Given the description of an element on the screen output the (x, y) to click on. 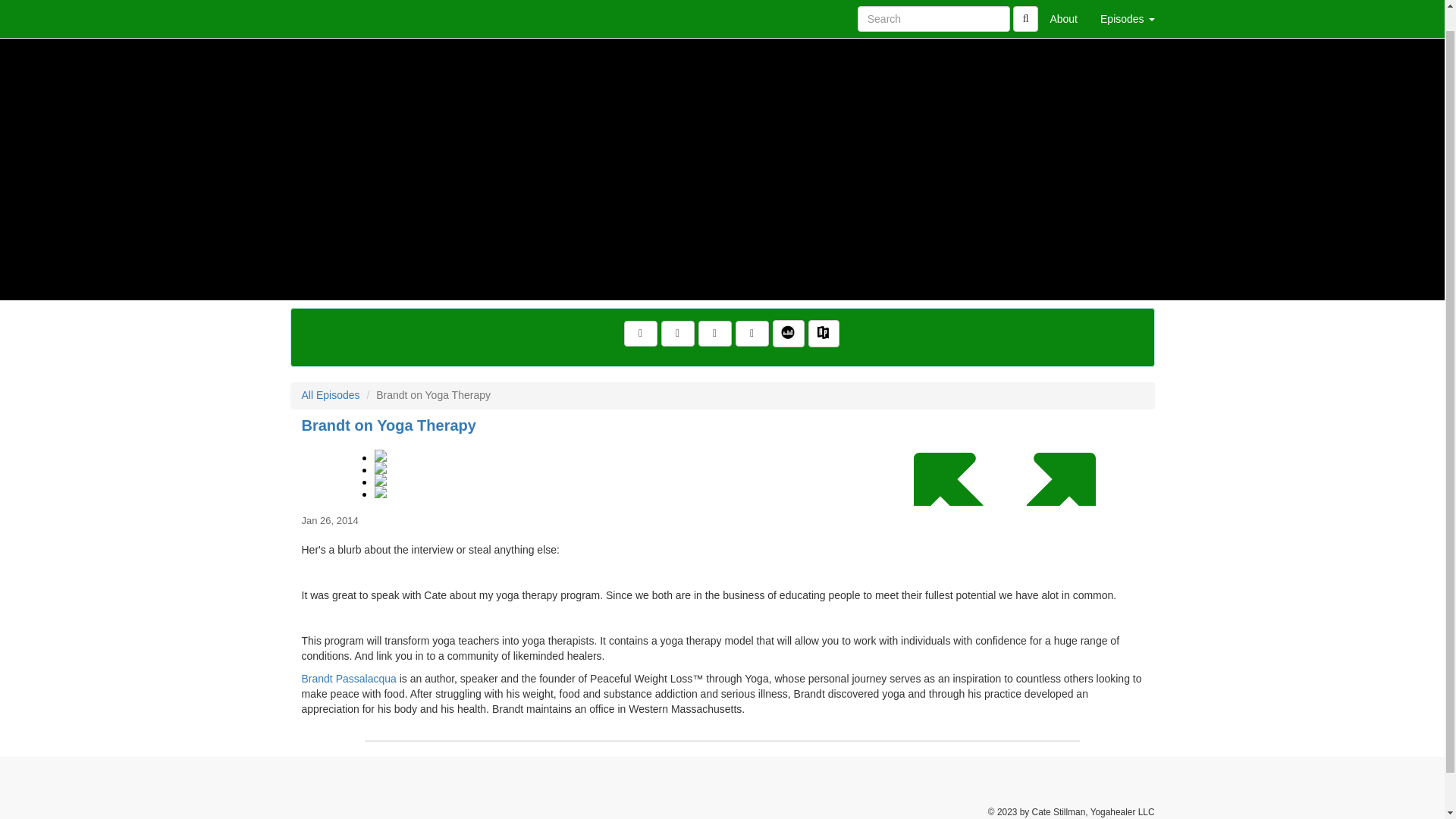
Listen on Radio Public (824, 333)
Visit Us on Facebook (641, 333)
Visit Us on Twitter (677, 333)
Subscribe to RSS Feed (751, 333)
Episodes (1127, 7)
Home Page (320, 7)
Listen on Deezer (789, 333)
About (1063, 7)
Email This Podcast (715, 333)
Brandt on Yoga Therapy (721, 471)
